Given the description of an element on the screen output the (x, y) to click on. 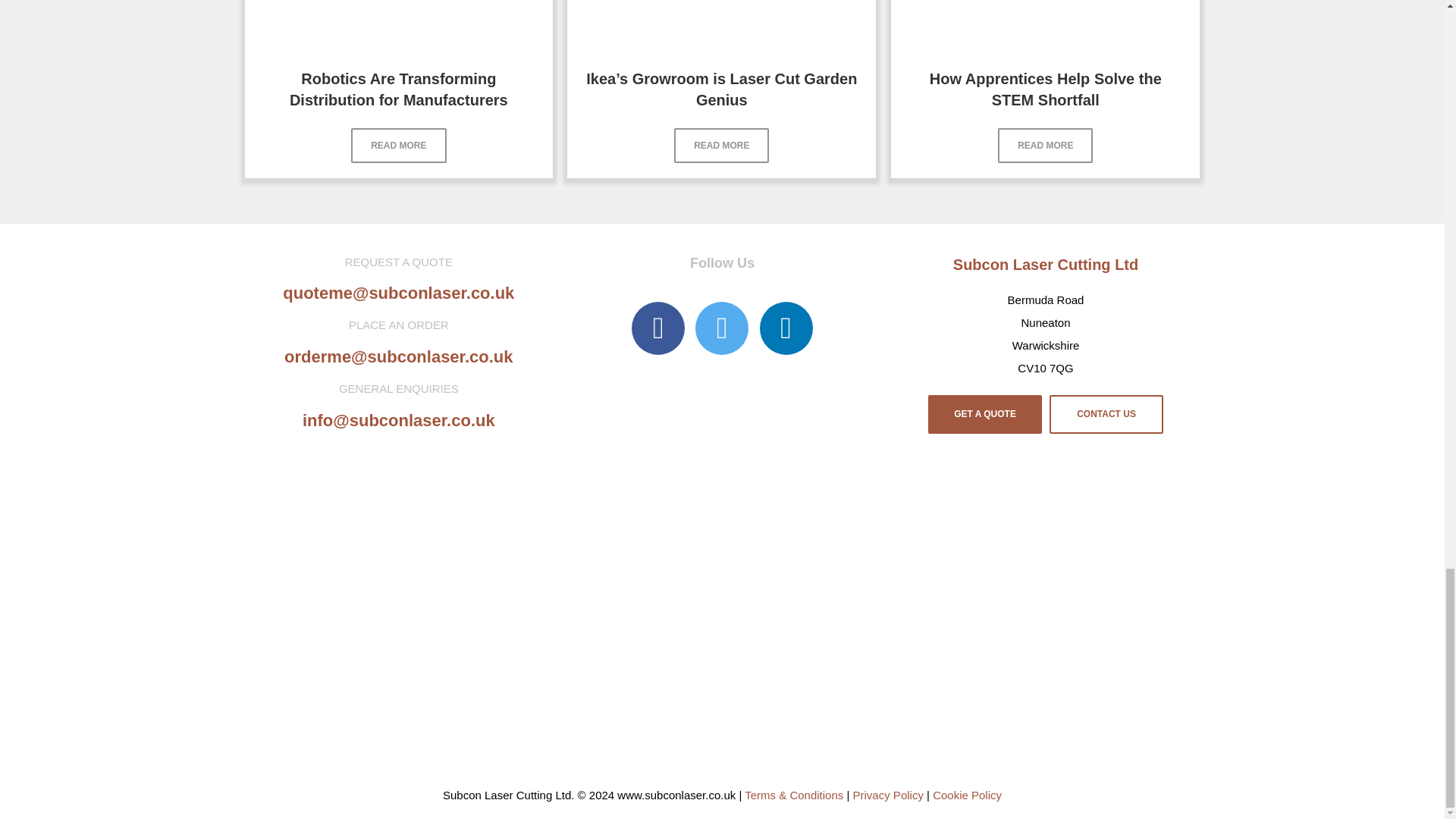
Robotics Are Transforming Distribution for Manufacturers (398, 89)
GET A QUOTE (985, 414)
Click Here (1045, 144)
Click Here (397, 144)
Click Here (721, 144)
How Apprentices Help Solve the STEM Shortfall (1045, 89)
